Given the description of an element on the screen output the (x, y) to click on. 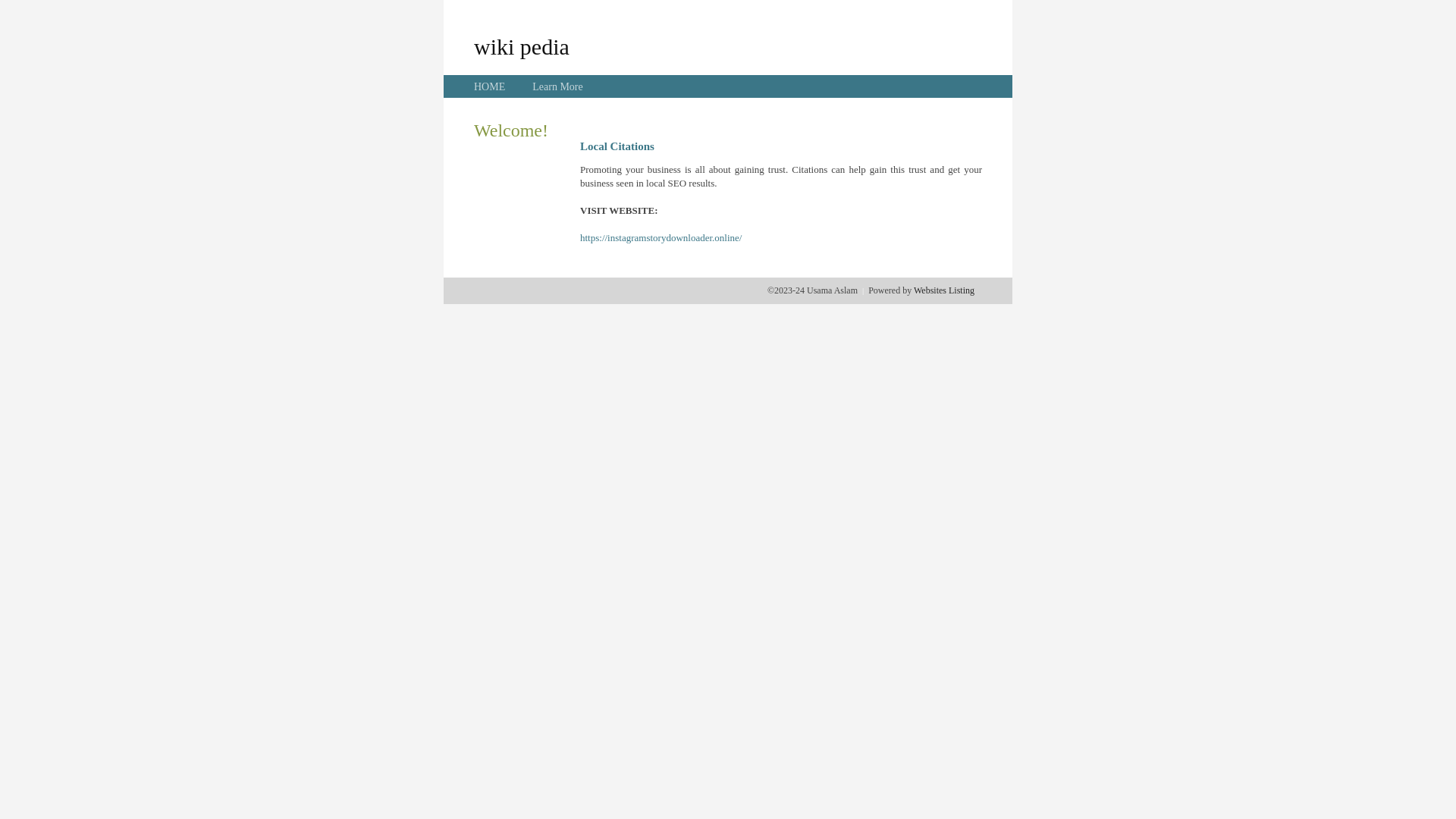
wiki pedia Element type: text (521, 46)
https://instagramstorydownloader.online/ Element type: text (660, 237)
Learn More Element type: text (557, 86)
Websites Listing Element type: text (943, 290)
HOME Element type: text (489, 86)
